Given the description of an element on the screen output the (x, y) to click on. 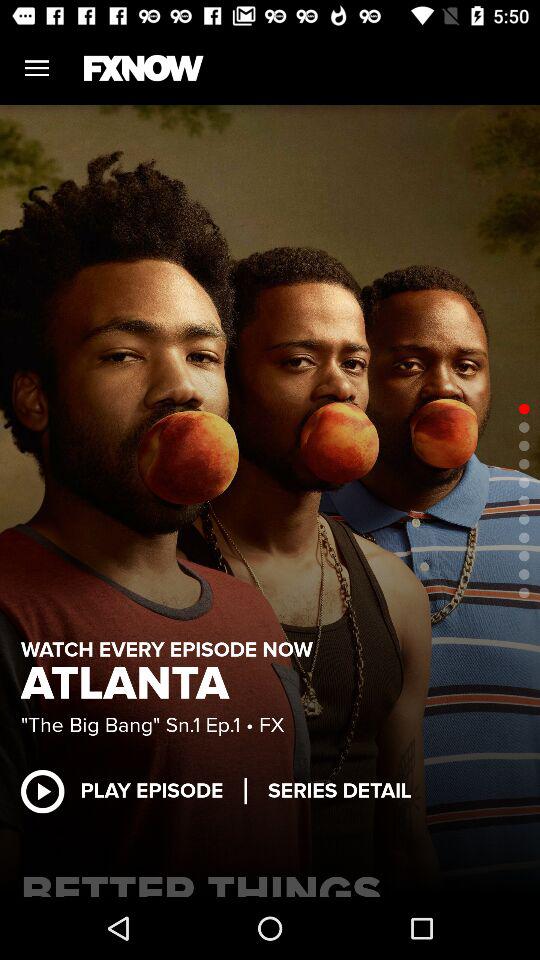
choose icon above the better things icon (132, 790)
